Given the description of an element on the screen output the (x, y) to click on. 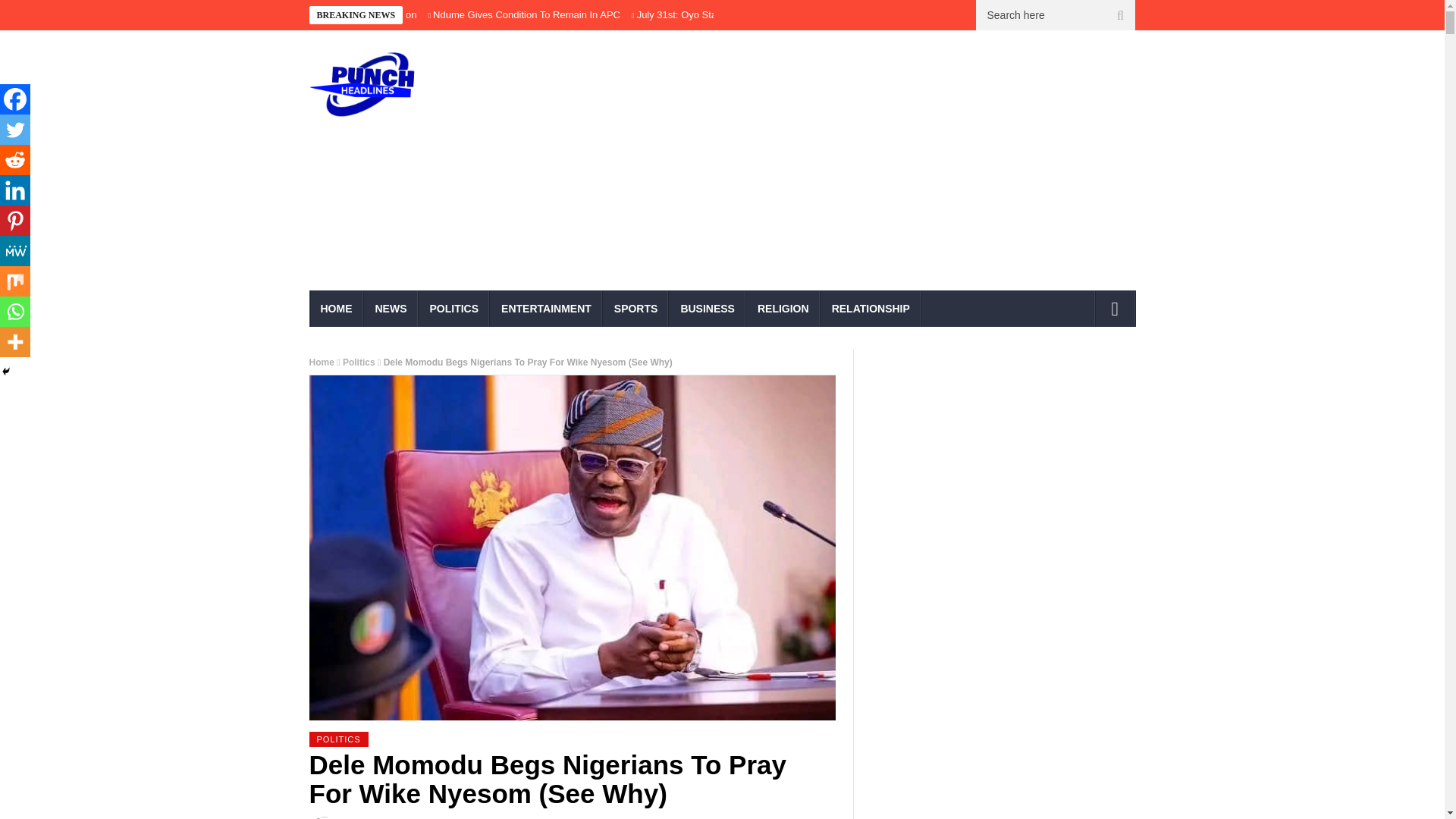
ENTERTAINMENT (545, 308)
NEWS (391, 308)
RELIGION (783, 308)
BUSINESS (706, 308)
Advertisement (863, 164)
Home (321, 362)
POLITICS (338, 739)
RELATIONSHIP (871, 308)
HOME (336, 308)
POLITICS (454, 308)
Ndume Gives Condition To Remain In APC (526, 14)
Politics (358, 362)
Tinubu Increases Armed Forces Pension (327, 14)
SPORTS (635, 308)
